Given the description of an element on the screen output the (x, y) to click on. 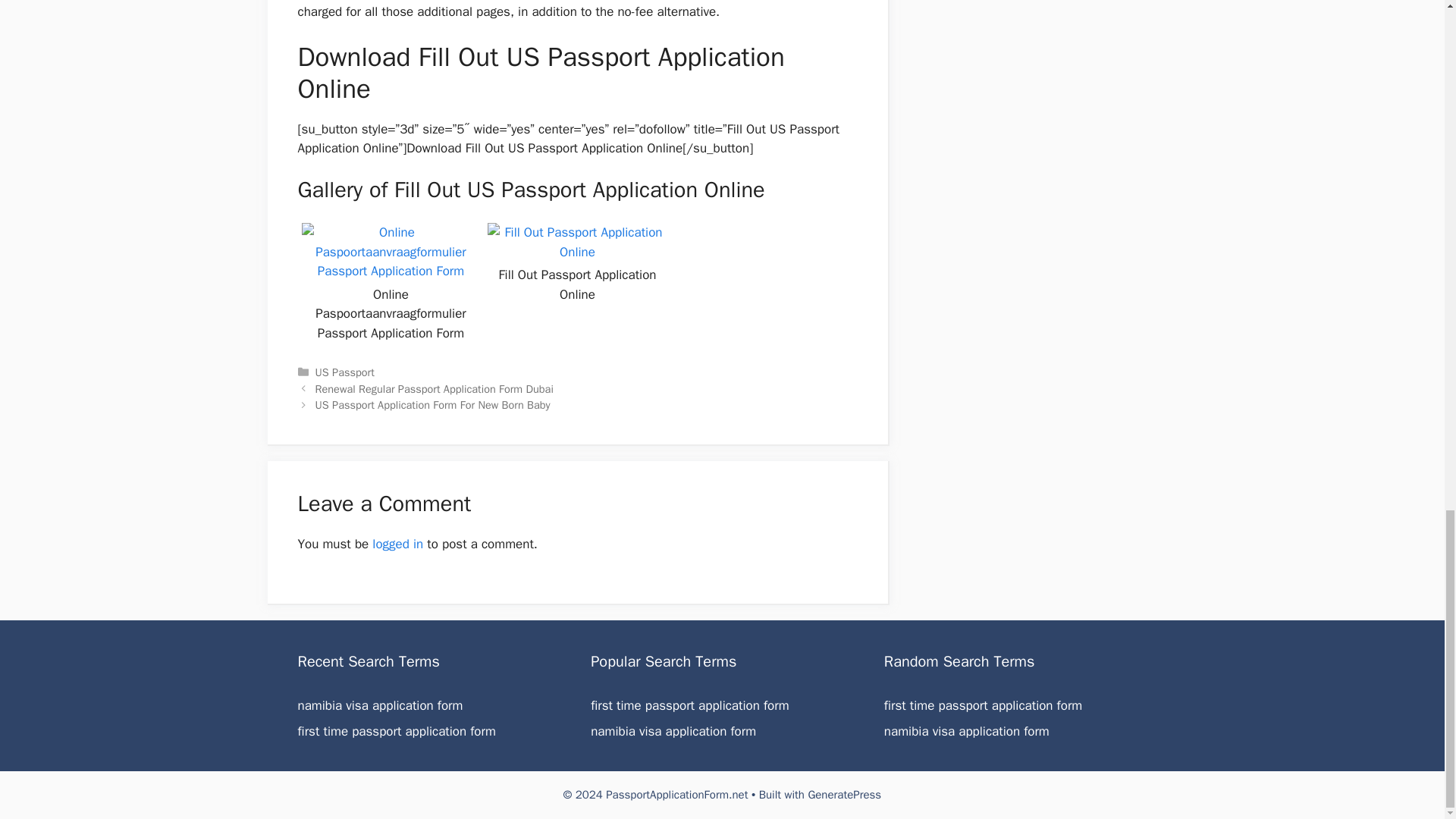
namibia visa application form (380, 705)
first time passport application form (982, 705)
namibia visa application form (966, 731)
US Passport Application Form For New Born Baby (432, 404)
first time passport application form (396, 731)
first time passport application form (690, 705)
namibia visa application form (673, 731)
first time passport application form (982, 705)
namibia visa application form (673, 731)
Next (432, 404)
